Given the description of an element on the screen output the (x, y) to click on. 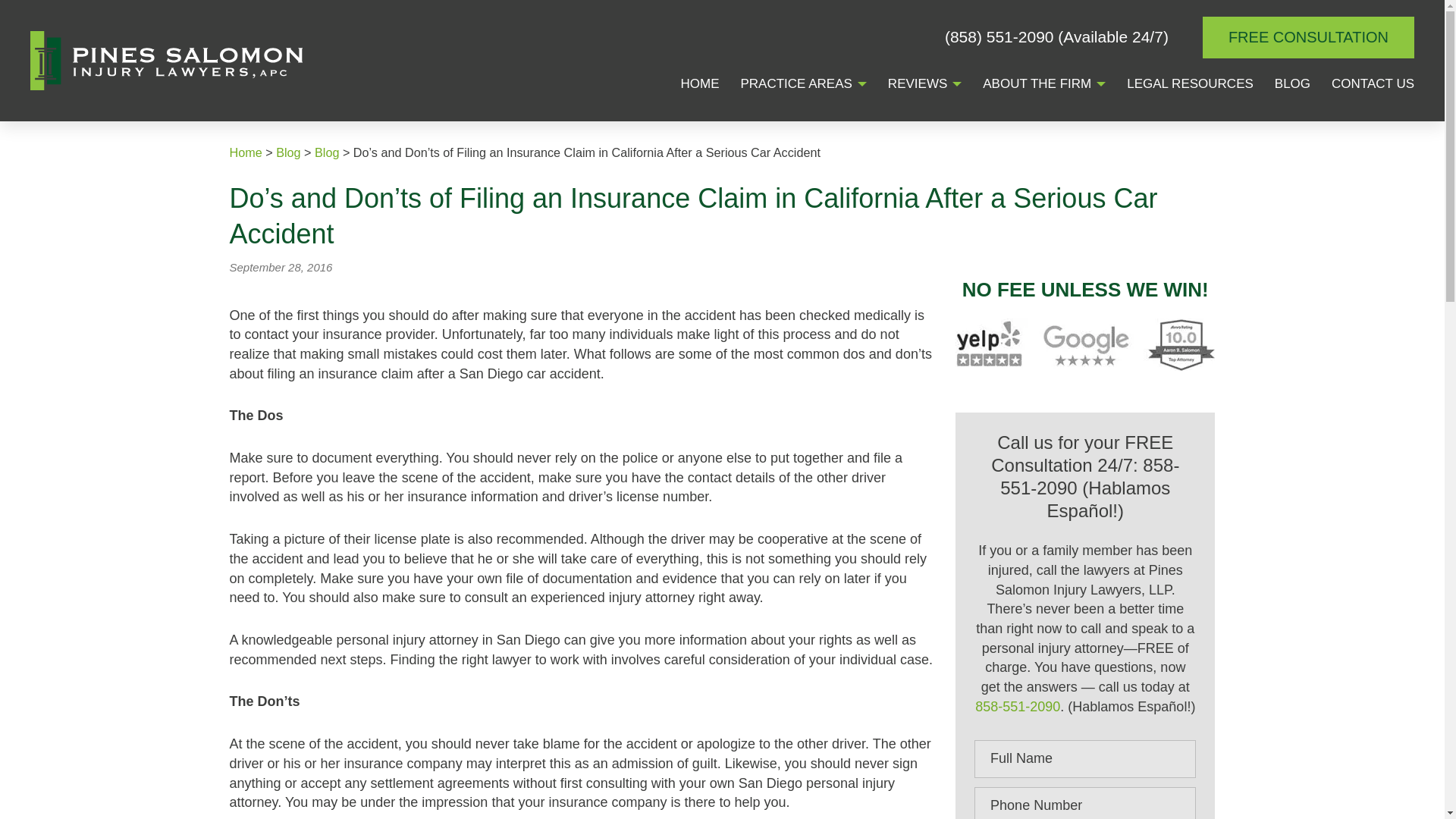
PRACTICE AREAS (795, 85)
Go to the Blog Category archives. (326, 151)
Go to Blog. (287, 151)
FREE CONSULTATION (1307, 37)
Go to Pines Salomon Injury Lawyers, LLP. (245, 151)
